Given the description of an element on the screen output the (x, y) to click on. 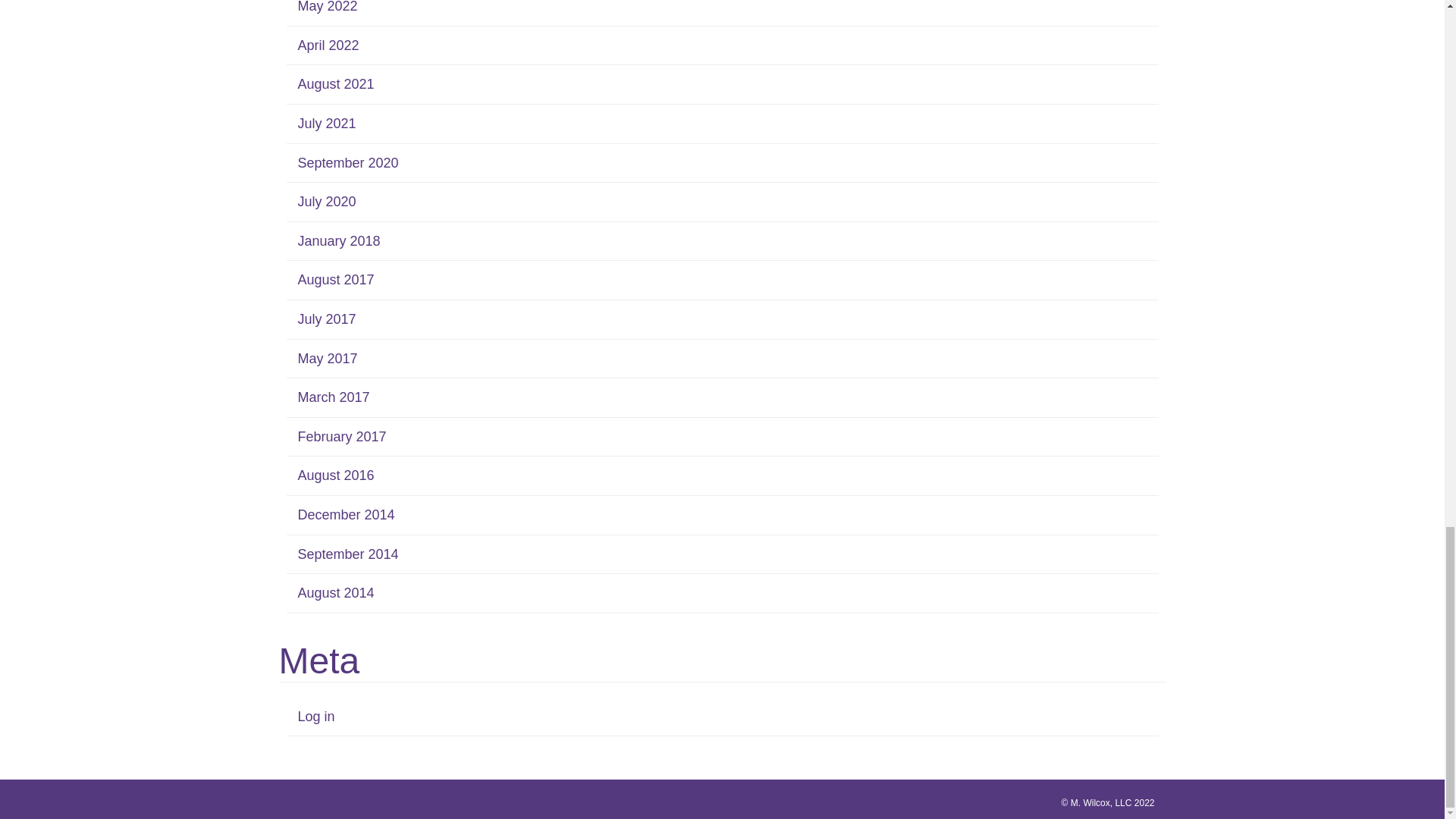
July 2021 (326, 123)
May 2017 (326, 358)
July 2020 (326, 201)
December 2014 (345, 514)
April 2022 (327, 45)
August 2016 (335, 475)
July 2017 (326, 319)
September 2020 (347, 162)
August 2014 (335, 592)
August 2017 (335, 279)
